Given the description of an element on the screen output the (x, y) to click on. 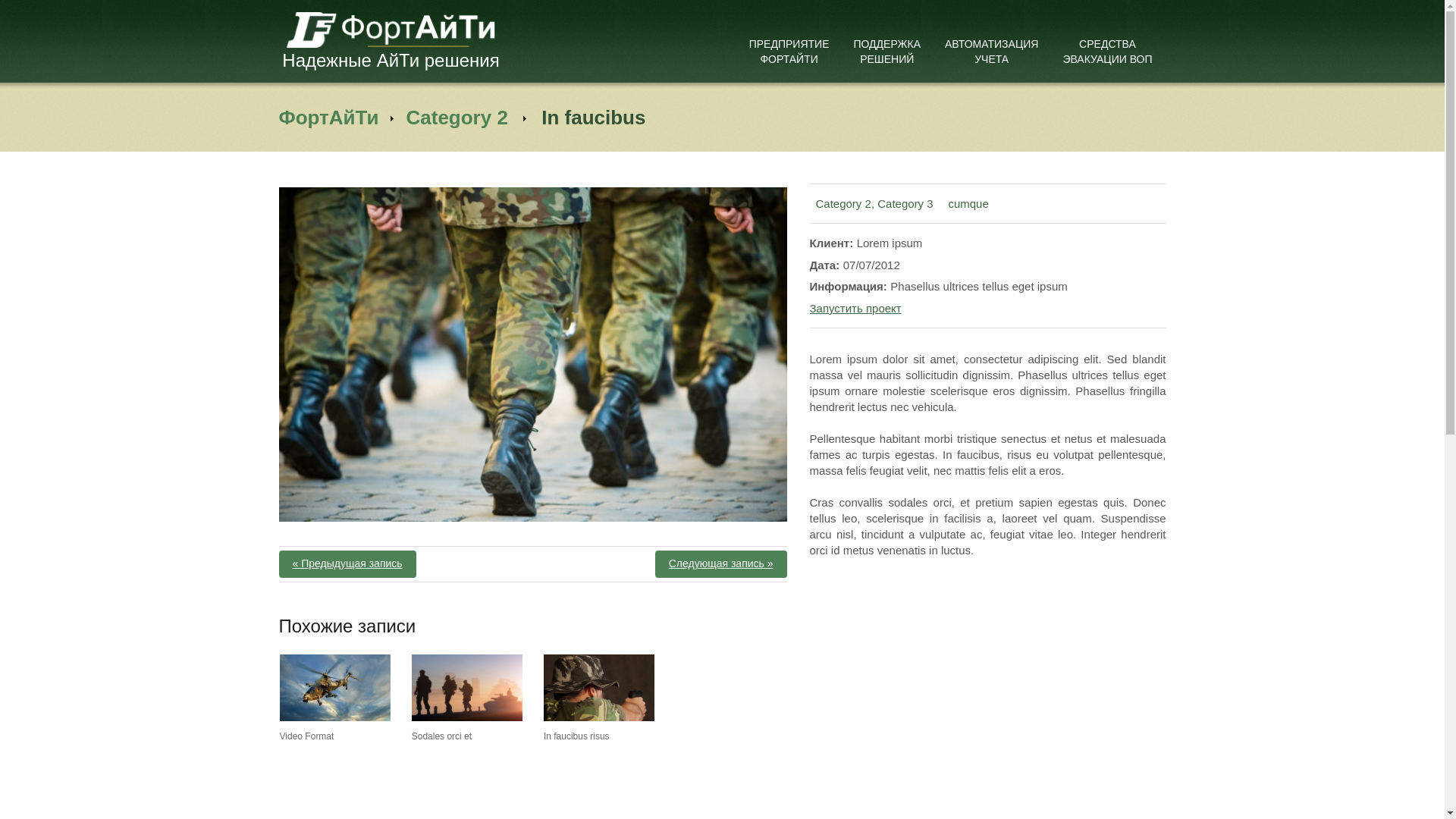
Category 3 Element type: text (904, 203)
In faucibus risus Element type: text (576, 736)
Sodales orci et Element type: text (441, 736)
cumque Element type: text (967, 203)
Sodales orci et Element type: hover (466, 687)
Category 2 Element type: text (456, 117)
Video Format Element type: hover (334, 687)
Category 2 Element type: text (843, 203)
Video Format Element type: text (306, 736)
In faucibus risus Element type: hover (598, 687)
